Given the description of an element on the screen output the (x, y) to click on. 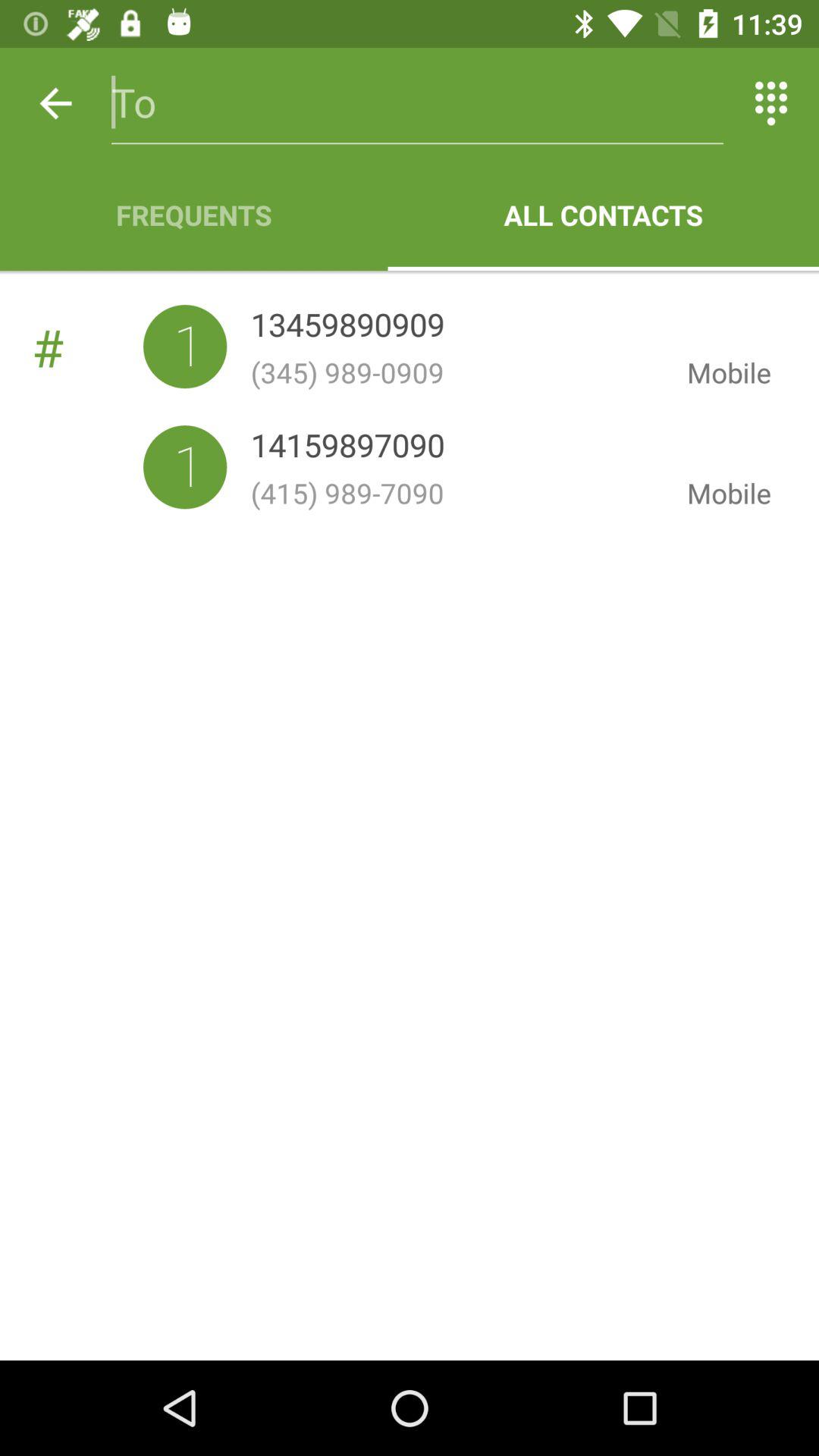
click the icon above (345) 989-0909 item (347, 327)
